Given the description of an element on the screen output the (x, y) to click on. 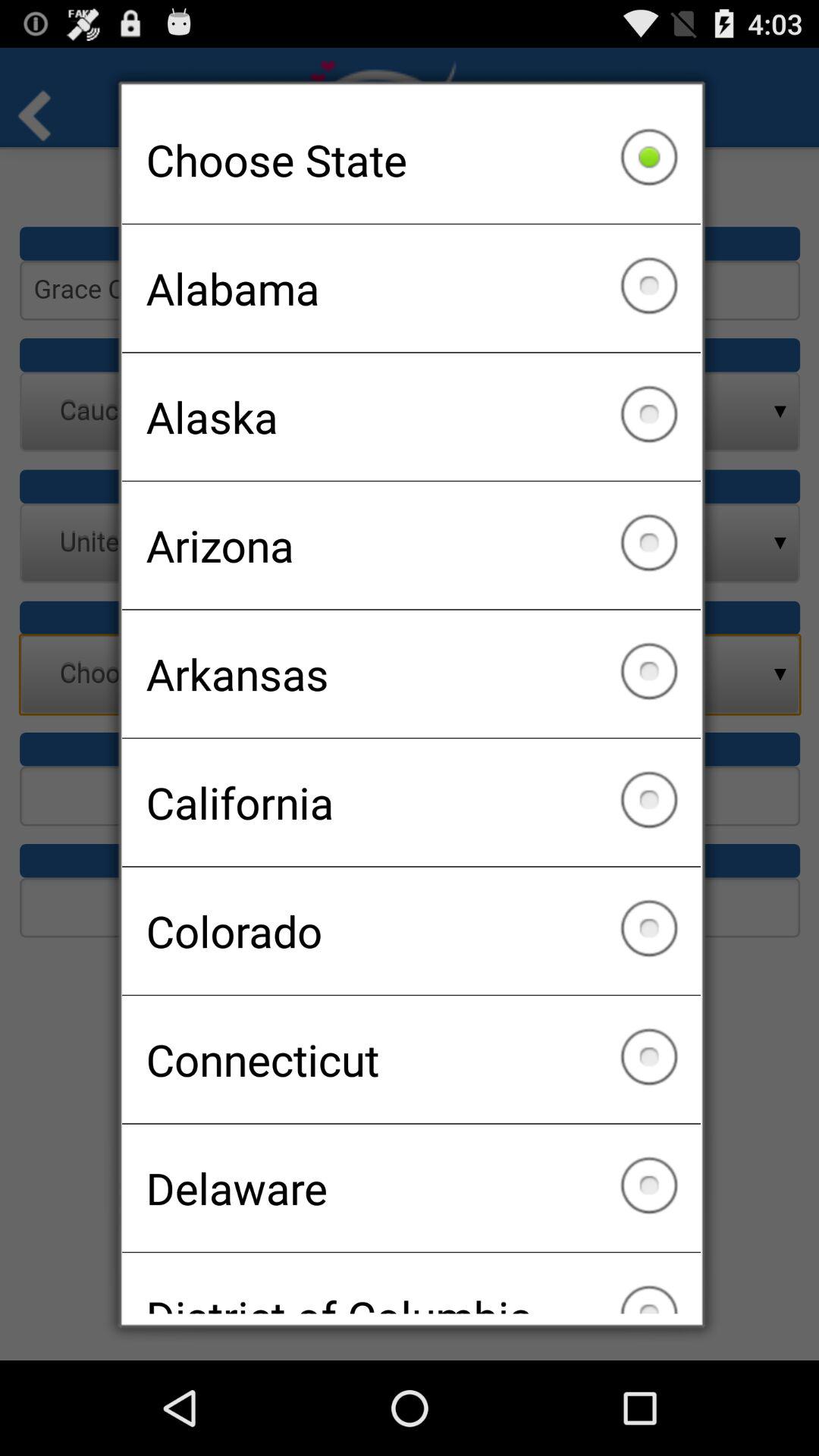
select icon above the delaware (411, 1059)
